Given the description of an element on the screen output the (x, y) to click on. 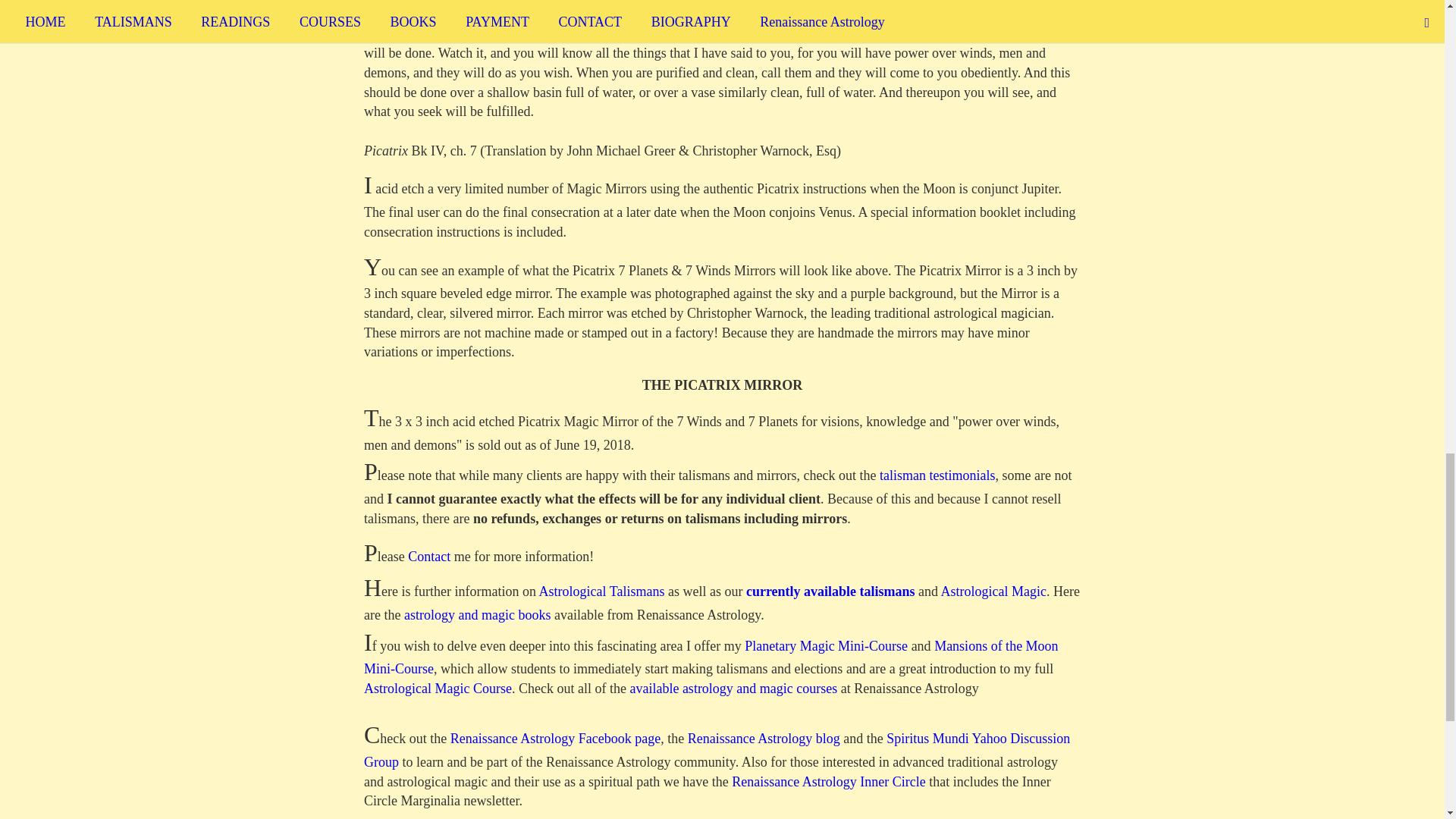
Renaissance Astrology Facebook page (555, 738)
talisman testimonials (936, 475)
Planetary Magic Mini-Course (825, 645)
available astrology and magic courses (732, 688)
Astrological Talismans (601, 590)
currently available talismans (830, 590)
Renaissance Astrology blog (763, 738)
Astrological Magic Course (438, 688)
Astrological Magic (993, 590)
astrology and magic books (477, 614)
